Given the description of an element on the screen output the (x, y) to click on. 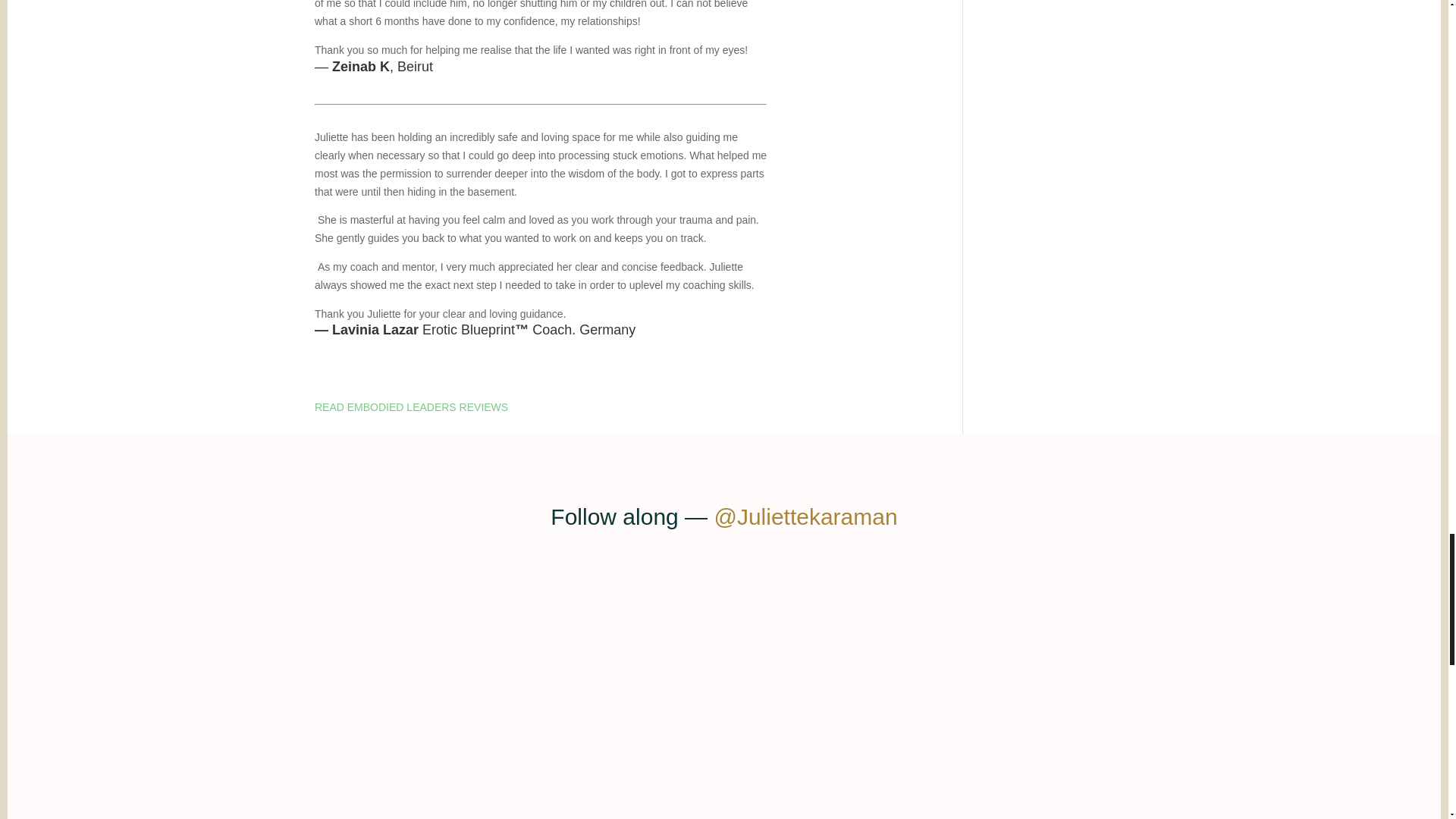
READ EMBODIED LEADERS REVIEWS (411, 416)
